Given the description of an element on the screen output the (x, y) to click on. 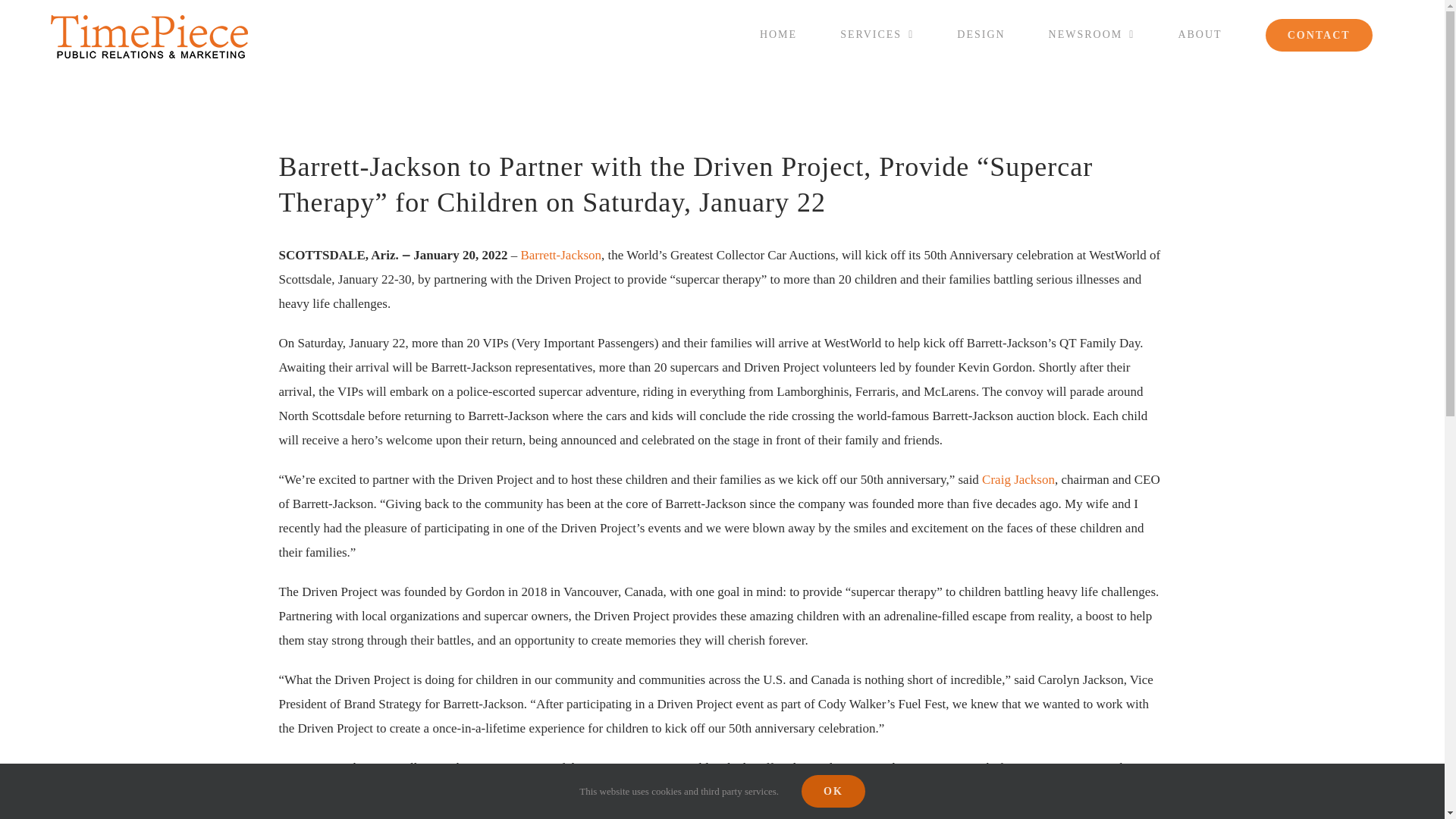
SERVICES (877, 34)
Barrett-Jackson (560, 255)
Craig Jackson (1017, 479)
NEWSROOM (1091, 34)
HOME (778, 34)
ABOUT (1199, 34)
DESIGN (981, 34)
CONTACT (1318, 34)
